Given the description of an element on the screen output the (x, y) to click on. 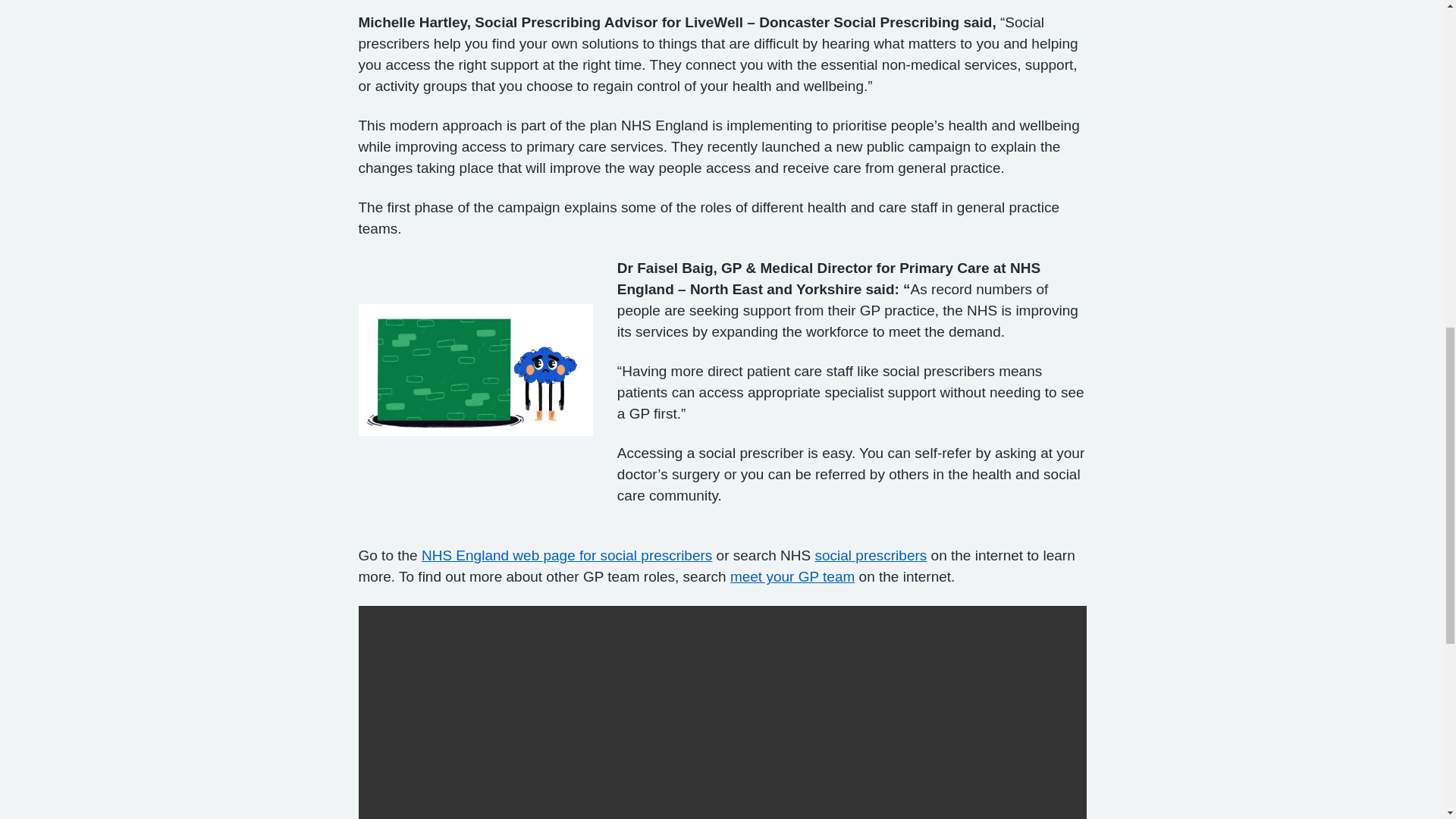
meet your GP team (792, 576)
social prescribers (869, 555)
NHS England web page for social prescribers (566, 555)
